Given the description of an element on the screen output the (x, y) to click on. 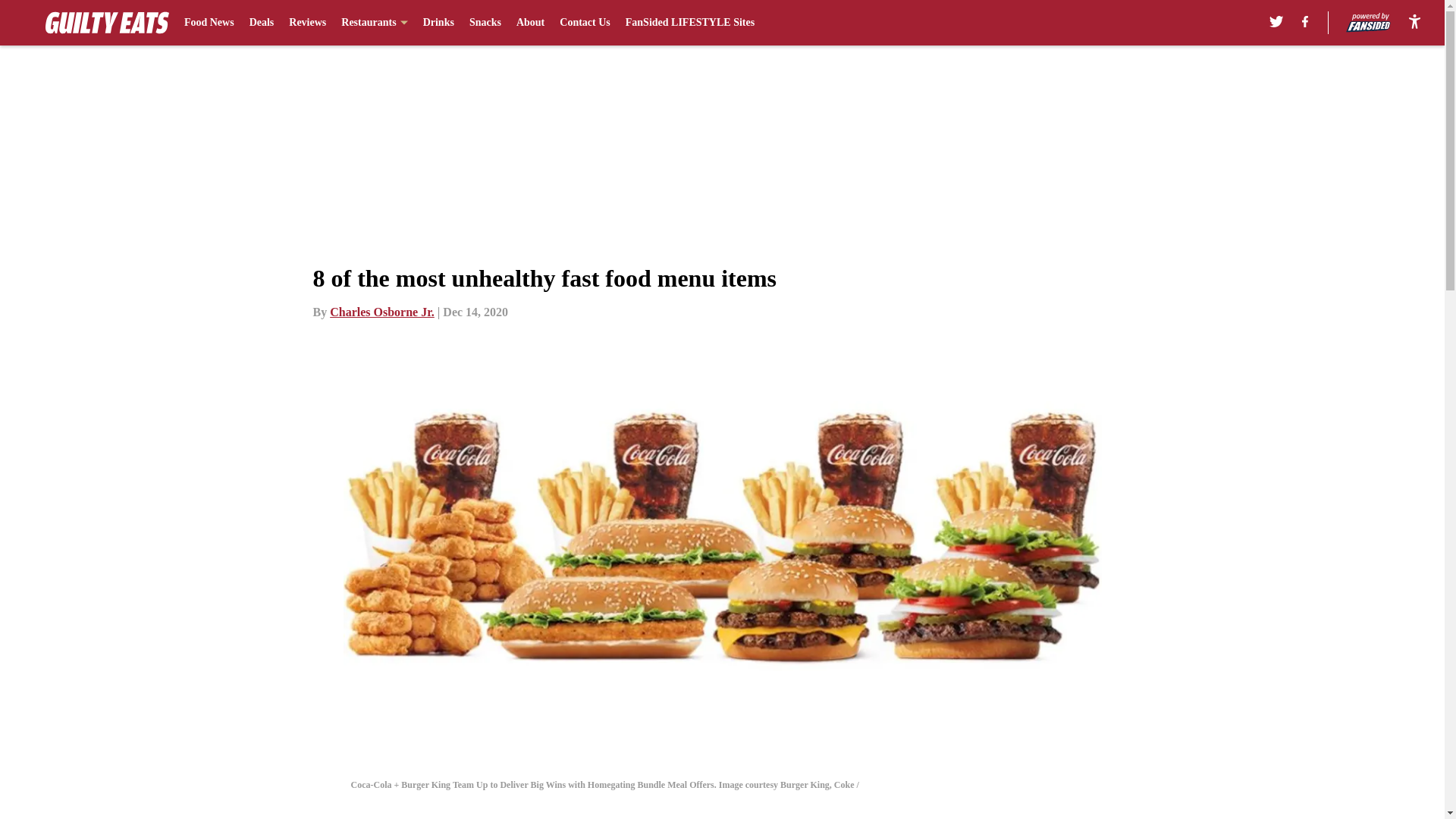
Reviews (307, 22)
FanSided LIFESTYLE Sites (690, 22)
Snacks (484, 22)
Charles Osborne Jr. (381, 311)
Contact Us (584, 22)
Drinks (438, 22)
About (530, 22)
Deals (261, 22)
Restaurants (373, 22)
Food News (209, 22)
